Given the description of an element on the screen output the (x, y) to click on. 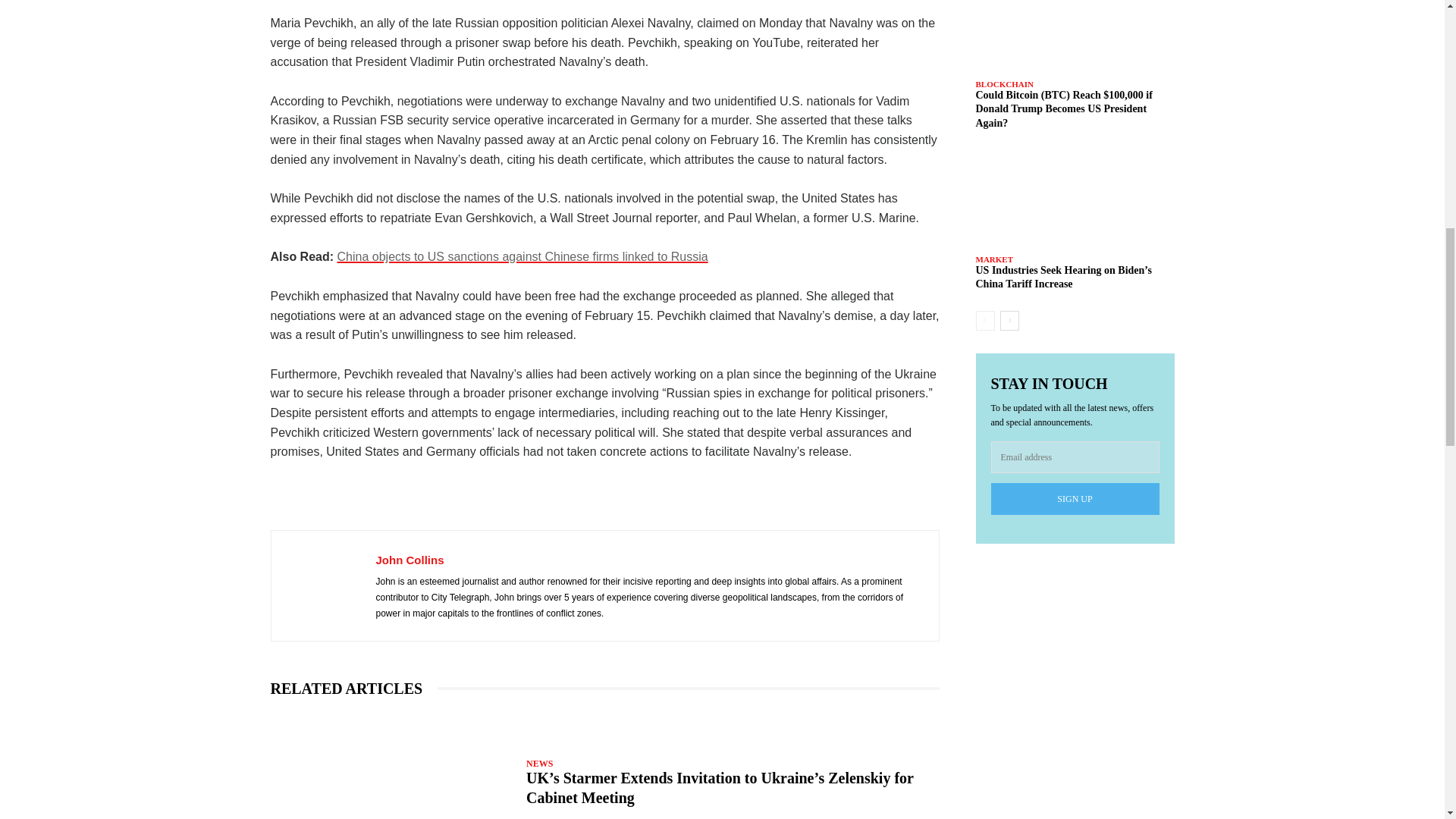
John Collins (322, 585)
